Given the description of an element on the screen output the (x, y) to click on. 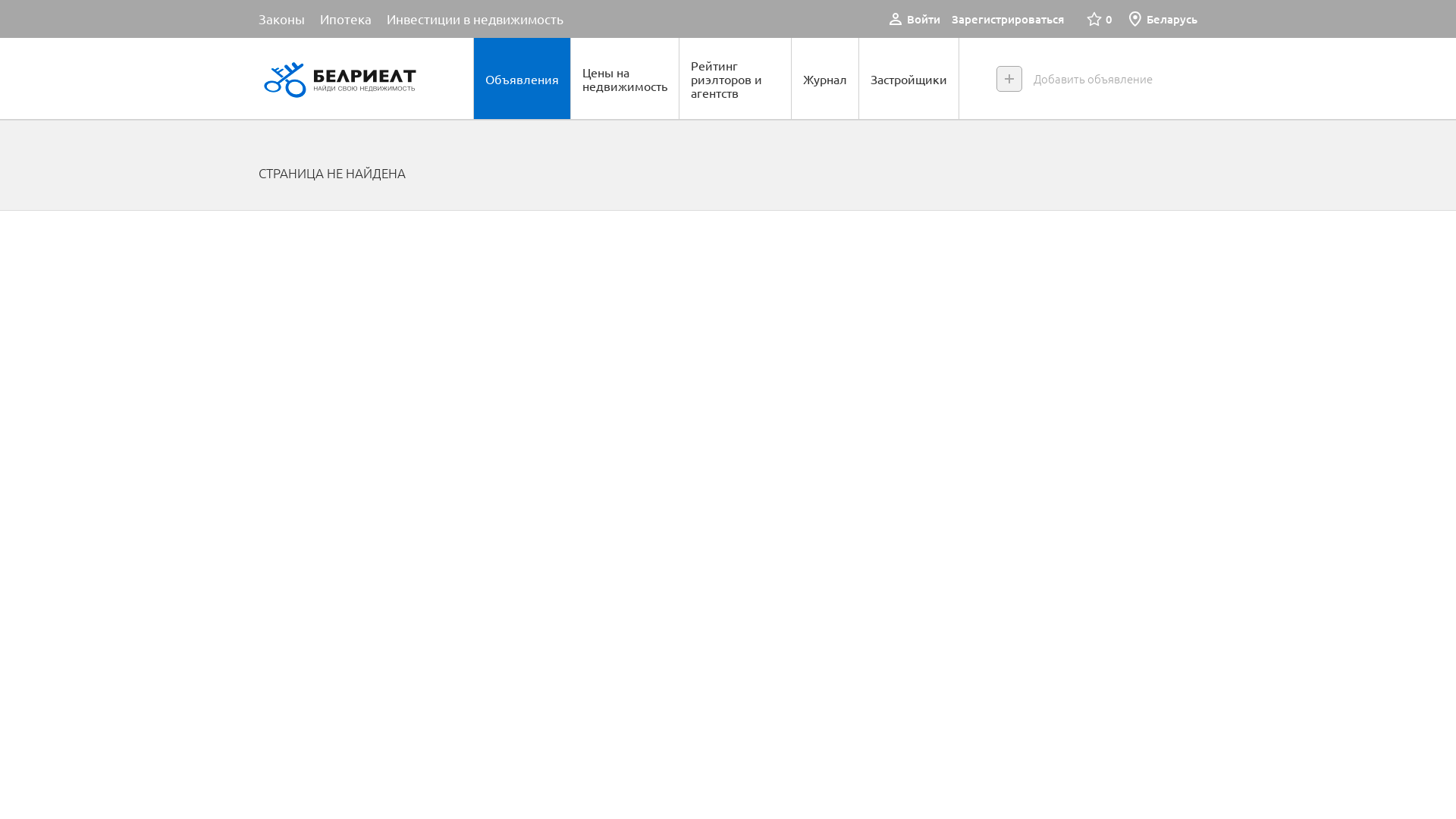
0 Element type: text (1099, 18)
